Given the description of an element on the screen output the (x, y) to click on. 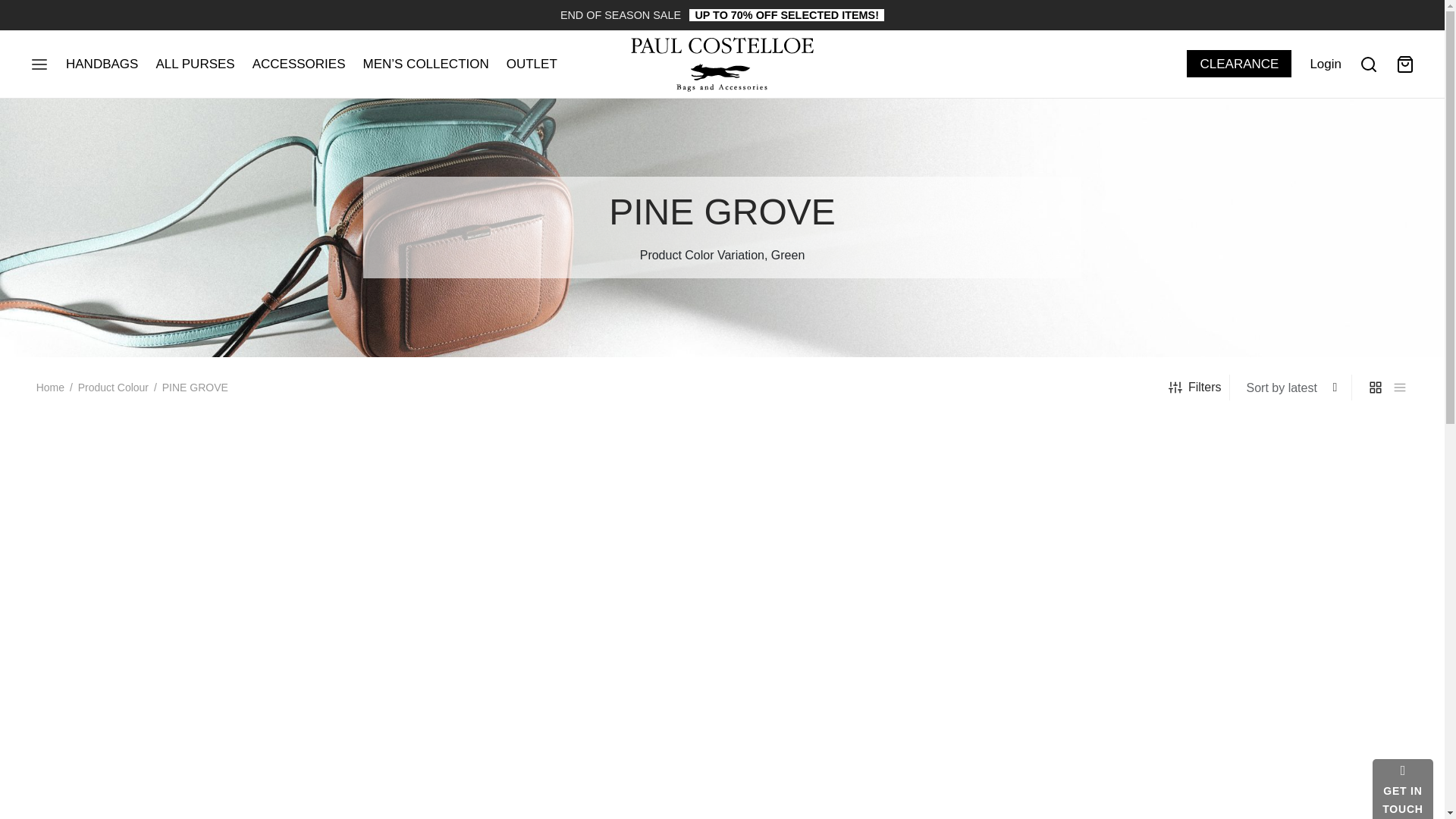
HANDBAGS (101, 63)
ALL PURSES (194, 63)
Cart (1404, 64)
OUTLET (531, 63)
ACCESSORIES (298, 63)
